Given the description of an element on the screen output the (x, y) to click on. 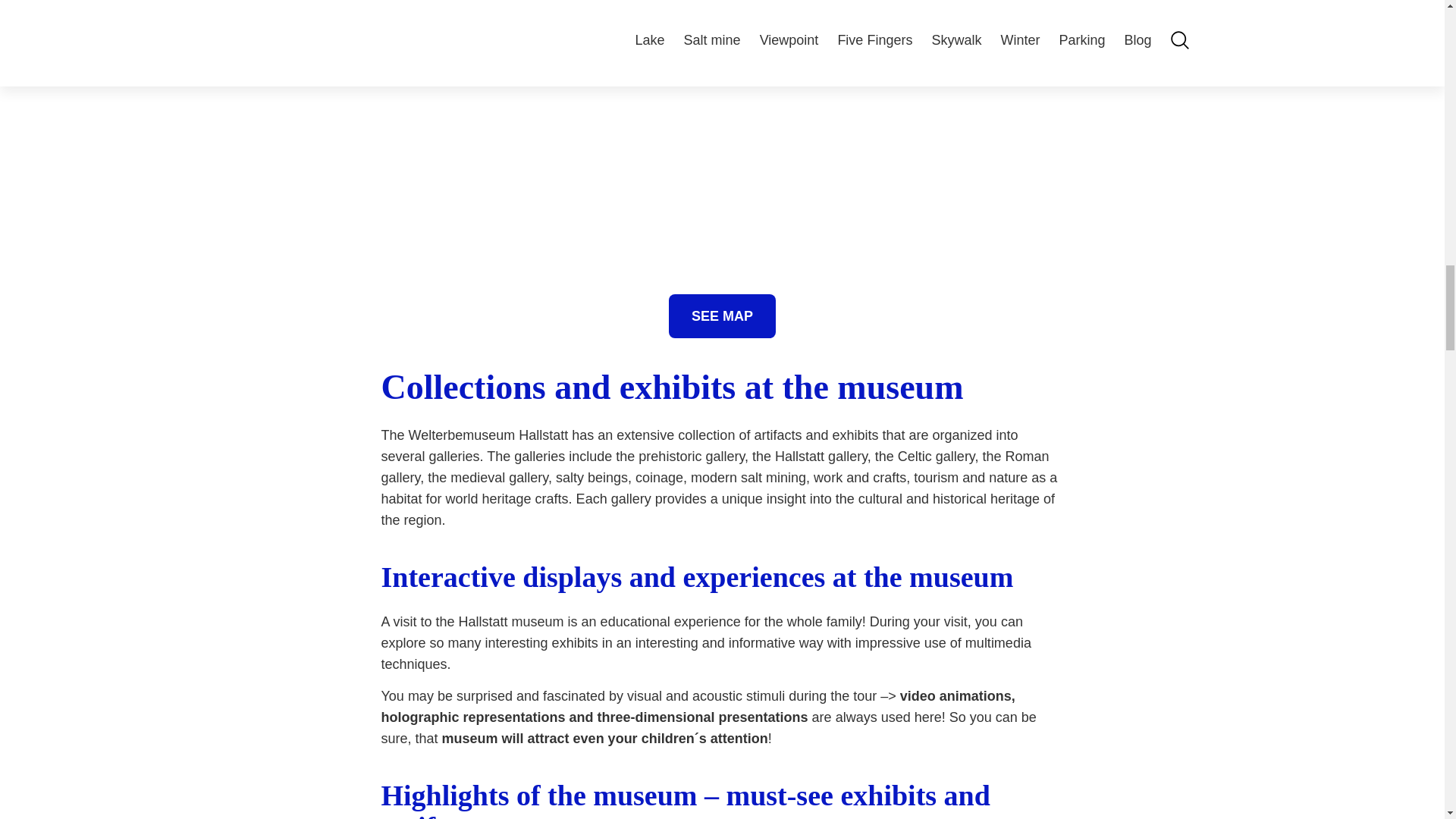
SEE MAP (722, 316)
